Given the description of an element on the screen output the (x, y) to click on. 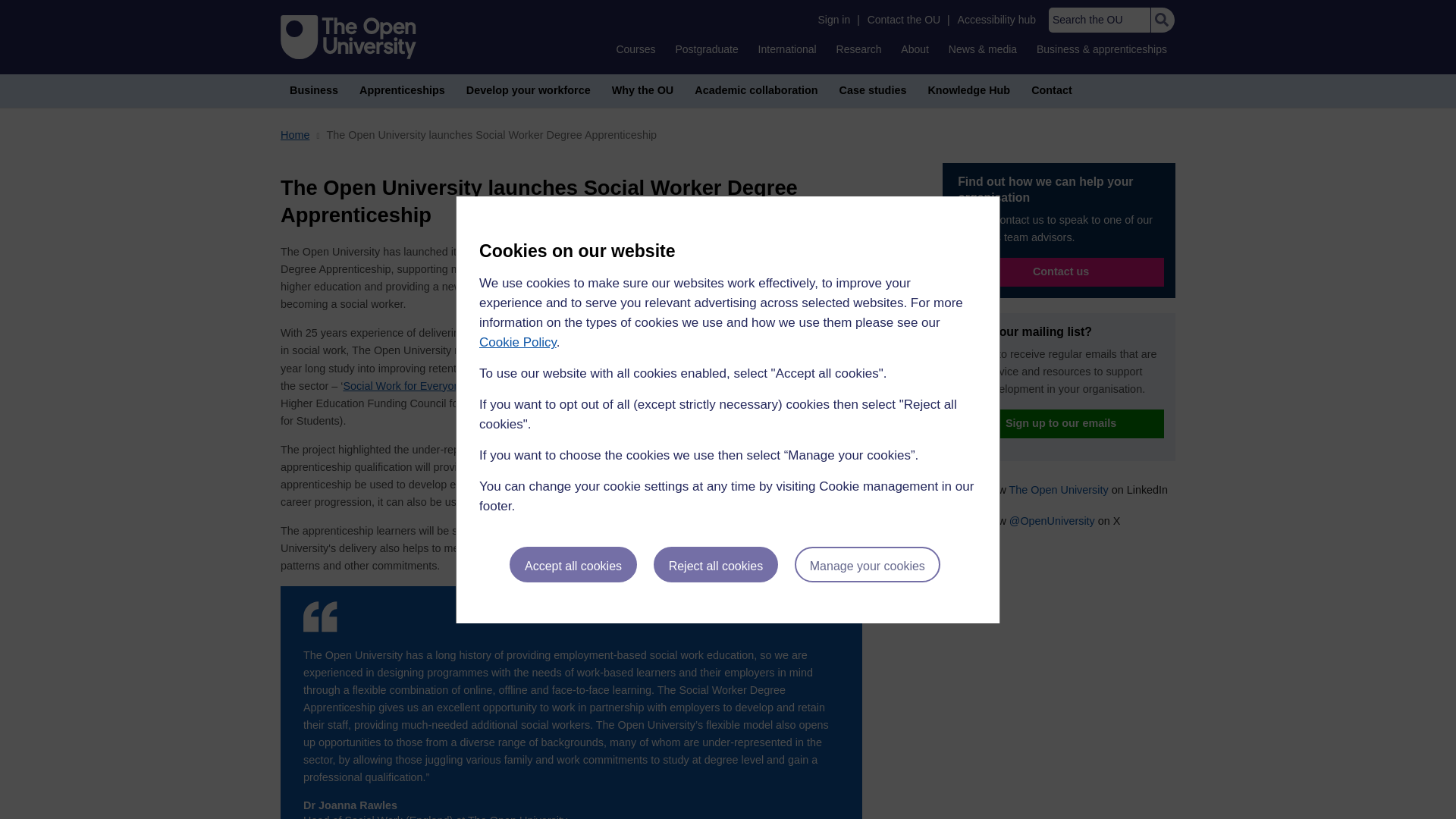
International (787, 49)
Postgraduate (705, 49)
Manage your cookies (867, 564)
Apprentice social workers (722, 330)
Courses (635, 49)
Contact the OU (903, 19)
Accessibility hub (997, 19)
Sign in (833, 19)
Search (1161, 19)
Search (1161, 19)
